Given the description of an element on the screen output the (x, y) to click on. 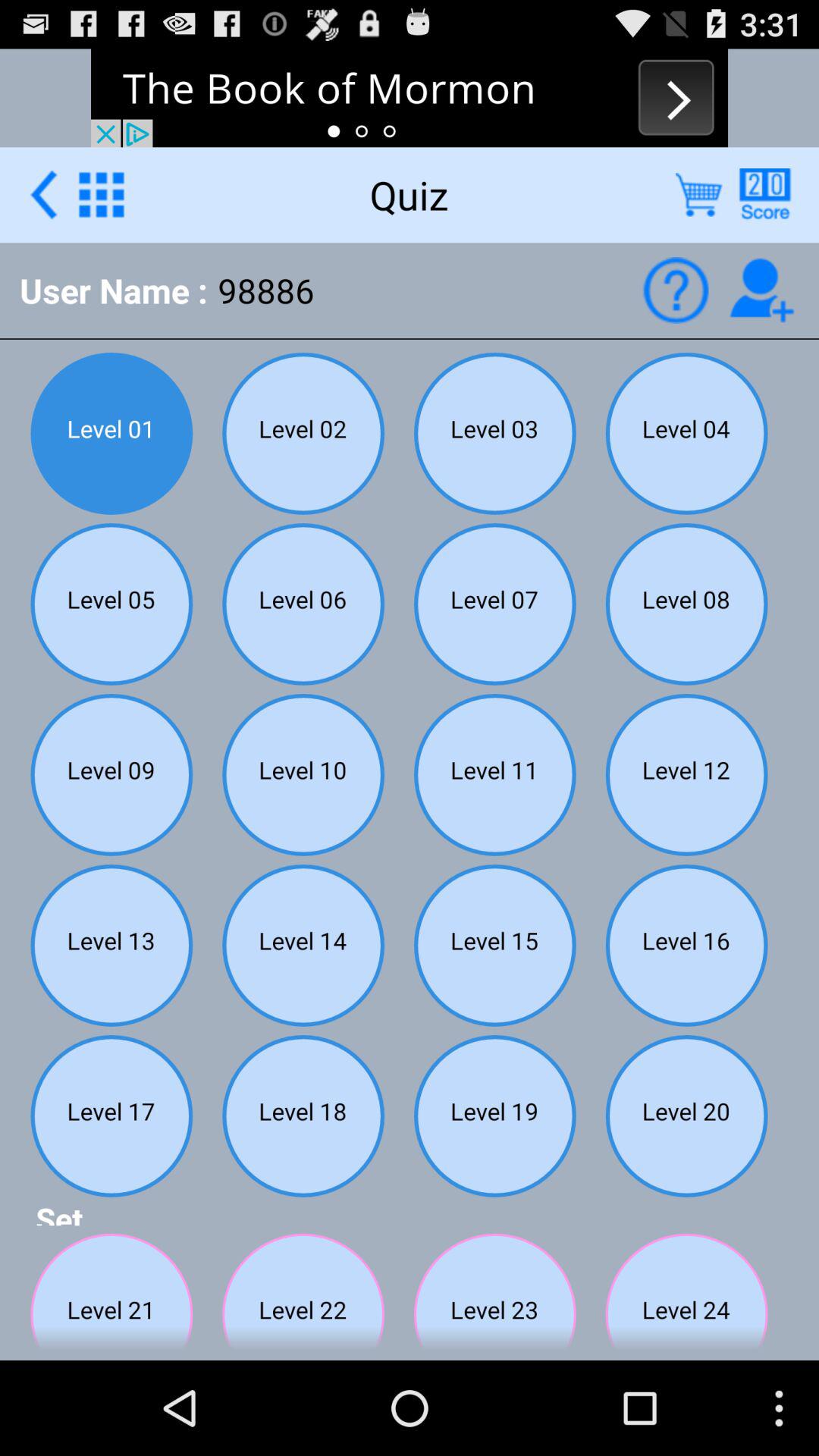
help icon (675, 290)
